Given the description of an element on the screen output the (x, y) to click on. 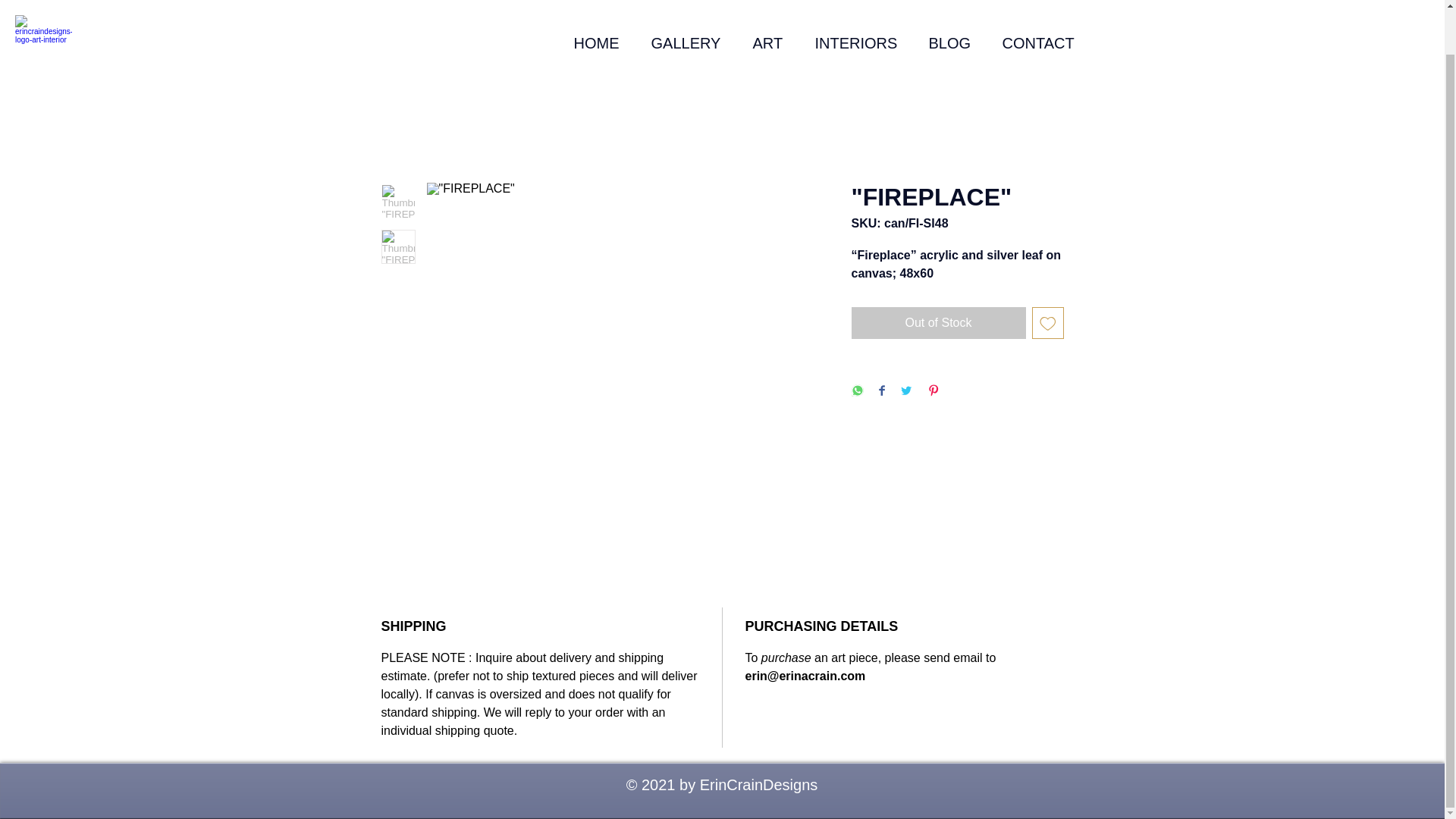
HOME (601, 13)
GALLERY (690, 13)
INTERIORS (860, 13)
Out of Stock (937, 323)
CONTACT (1041, 13)
ART (772, 13)
BLOG (954, 13)
